Given the description of an element on the screen output the (x, y) to click on. 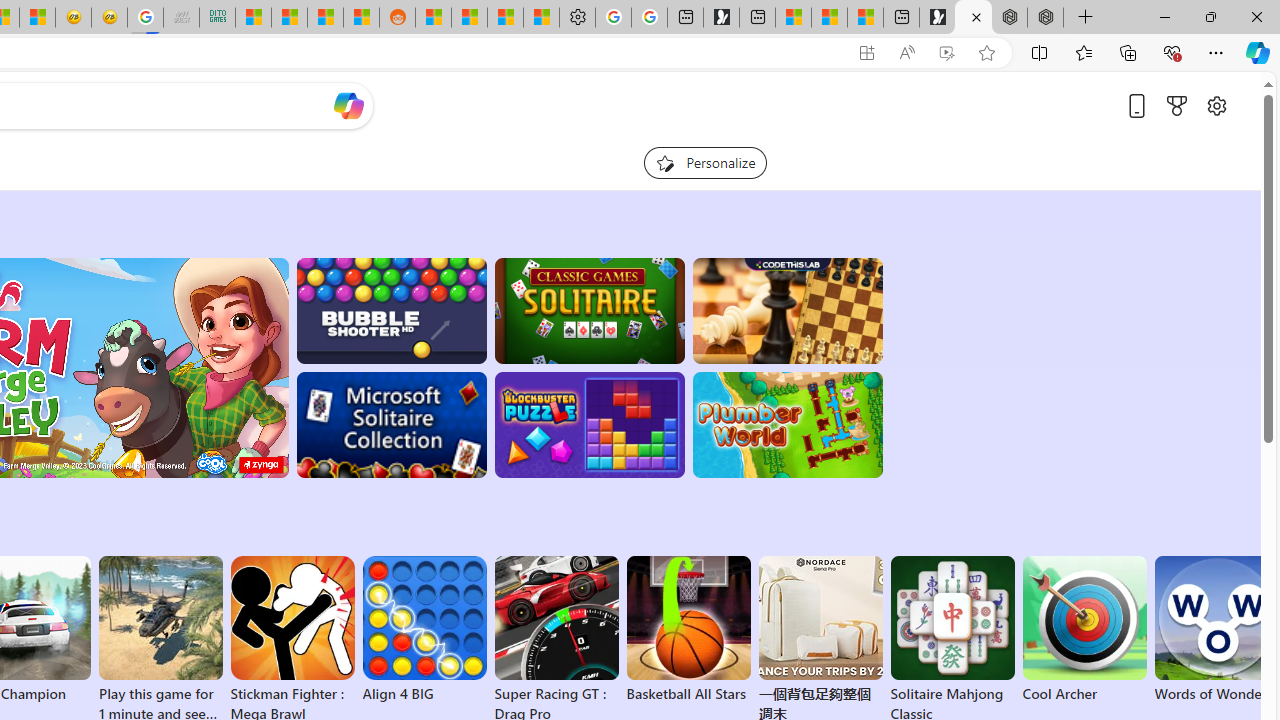
These 3 Stocks Pay You More Than 5% to Own Them (865, 17)
Bubble Shooter HD (390, 310)
Play Free Online Games | Games from Microsoft Start (973, 17)
Microsoft rewards (1176, 105)
Words of Wonders (1216, 629)
Master Chess (787, 310)
Personalize your feed" (704, 162)
Microsoft Start Gaming (721, 17)
Stocks - MSN (325, 17)
